Given the description of an element on the screen output the (x, y) to click on. 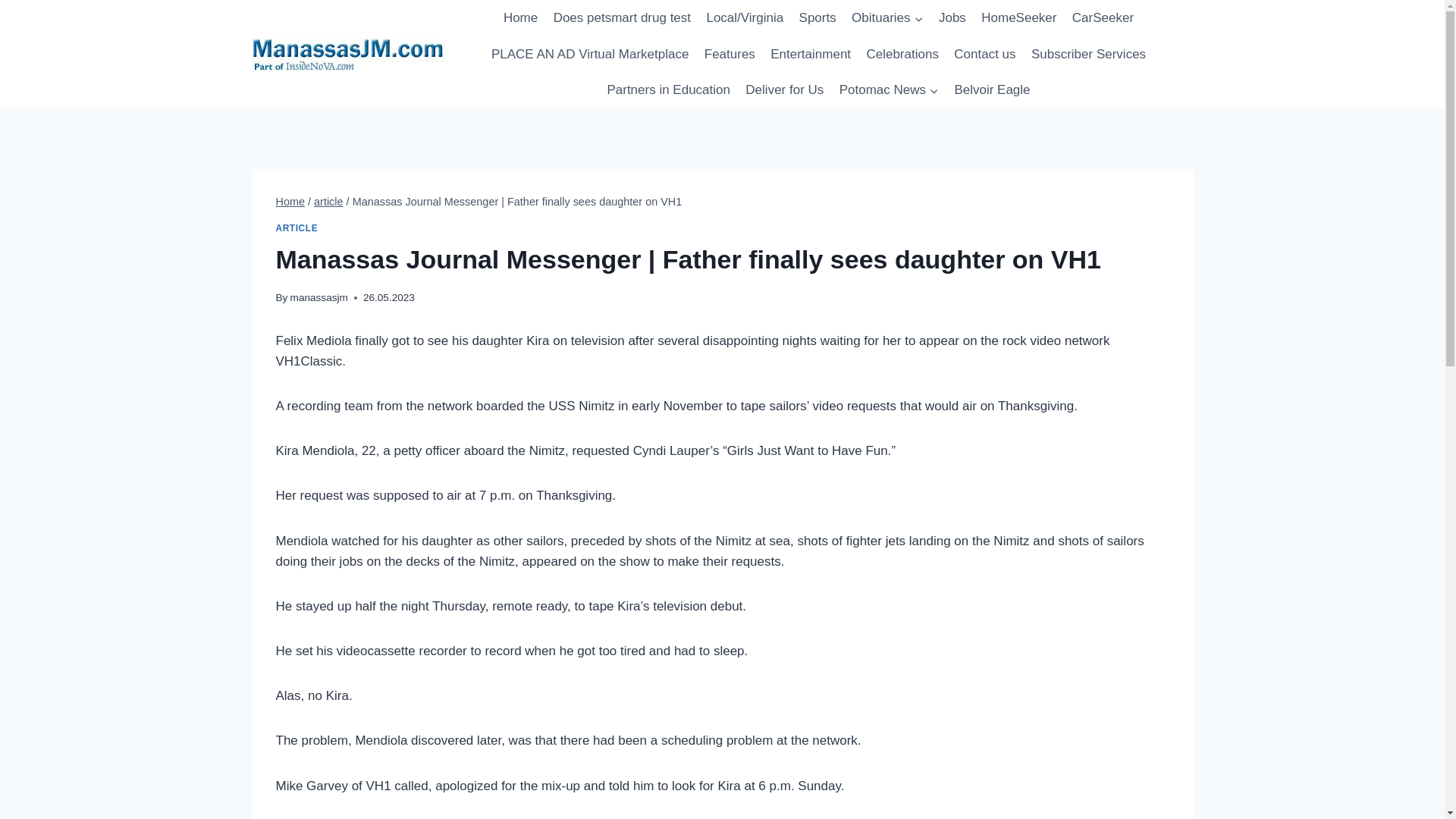
Sports (817, 18)
Home (290, 201)
manassasjm (318, 297)
Features (729, 54)
Celebrations (902, 54)
Does petsmart drug test (621, 18)
PLACE AN AD Virtual Marketplace (590, 54)
Jobs (952, 18)
Entertainment (810, 54)
Deliver for Us (784, 90)
HomeSeeker (1019, 18)
Contact us (984, 54)
ARTICLE (297, 227)
Partners in Education (668, 90)
Potomac News (888, 90)
